Given the description of an element on the screen output the (x, y) to click on. 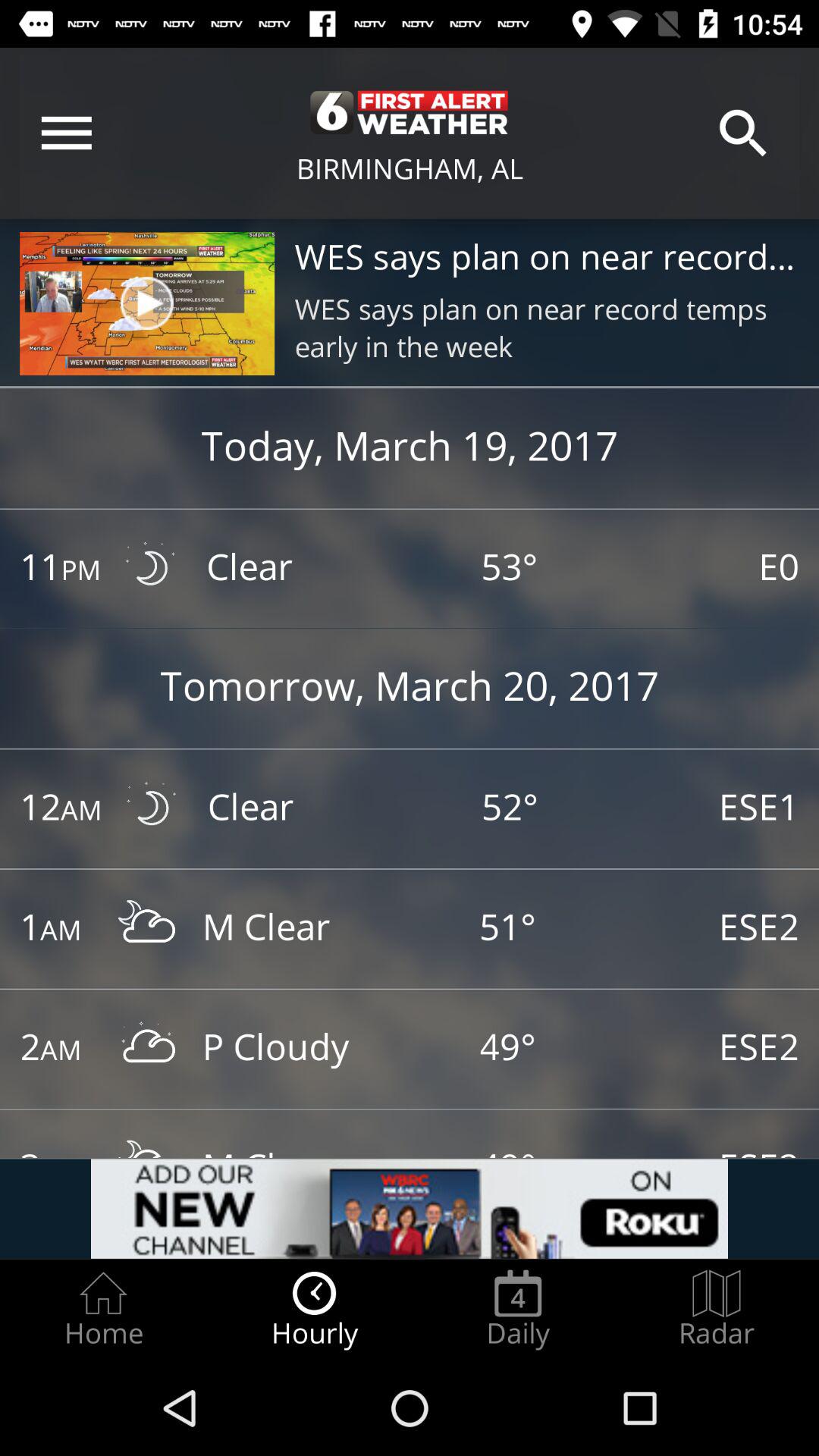
select the home item (103, 1309)
